Given the description of an element on the screen output the (x, y) to click on. 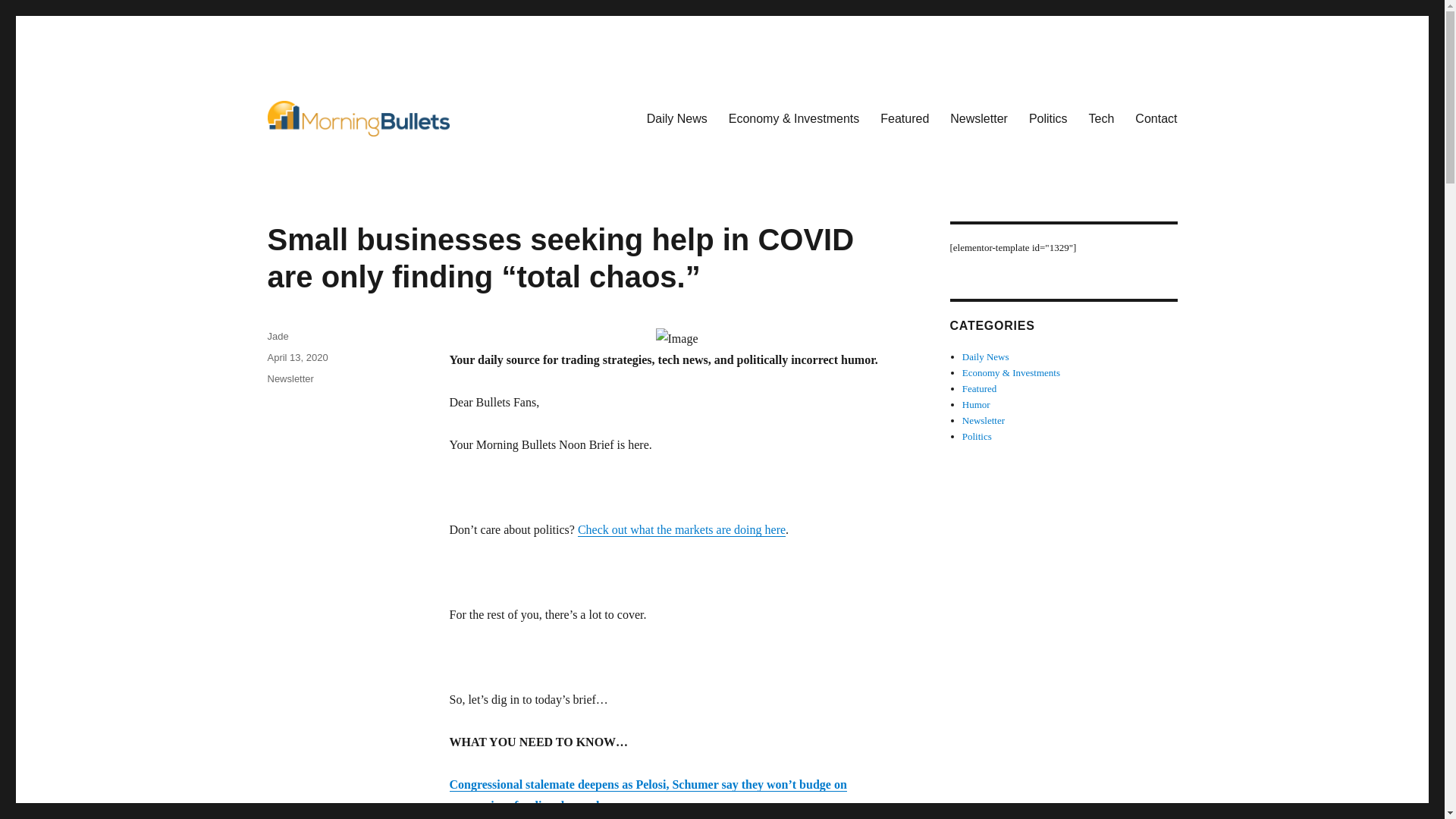
Politics (1047, 118)
Newsletter (289, 378)
Morning Bullets (347, 159)
Image (676, 338)
April 13, 2020 (296, 357)
Daily News (676, 118)
Featured (904, 118)
Jade (277, 336)
Check out what the markets are doing here (682, 529)
Tech (1101, 118)
Contact (1156, 118)
Newsletter (978, 118)
